Given the description of an element on the screen output the (x, y) to click on. 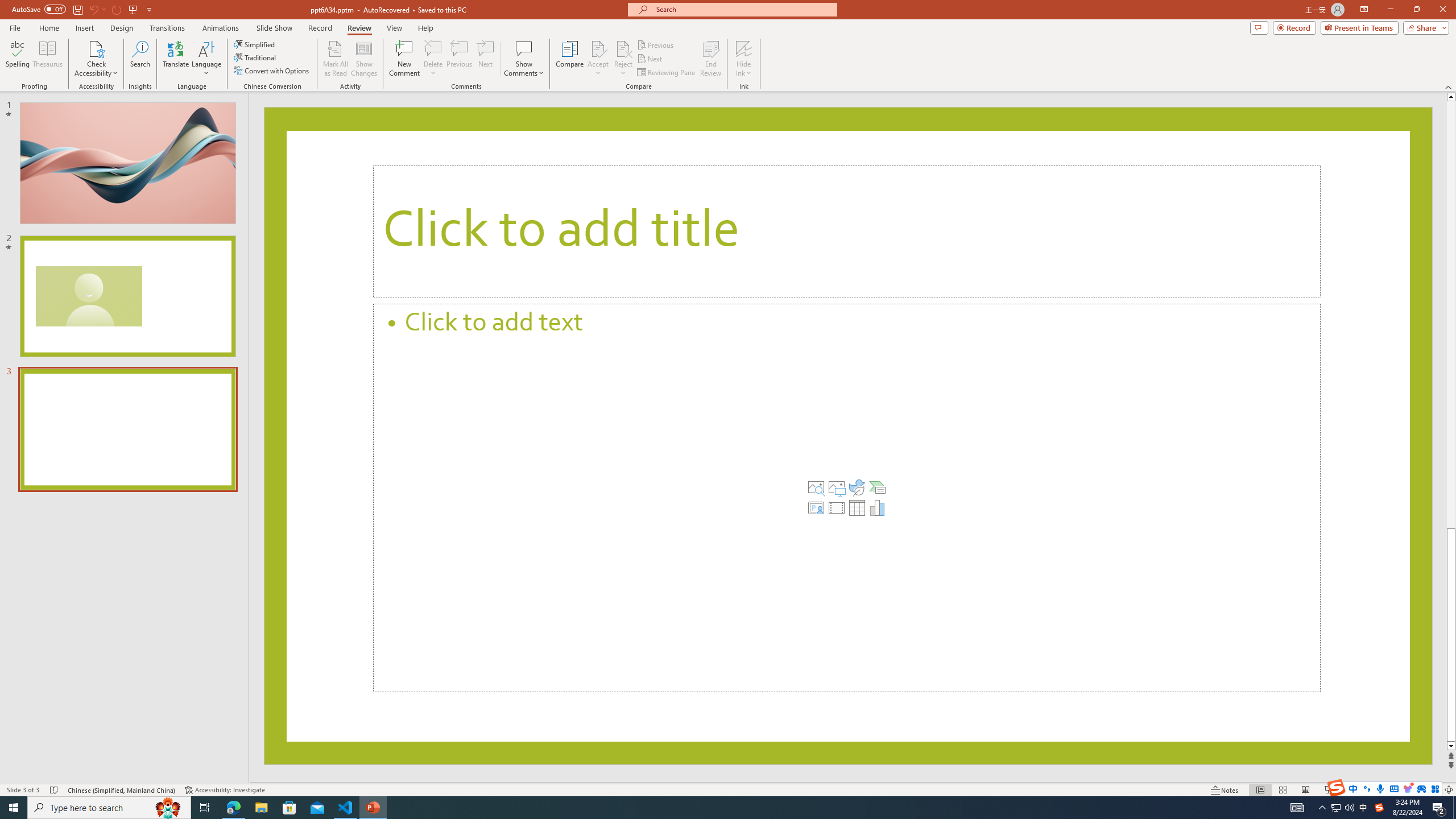
Simplified (254, 44)
Convert with Options... (272, 69)
Show Changes (363, 58)
